Given the description of an element on the screen output the (x, y) to click on. 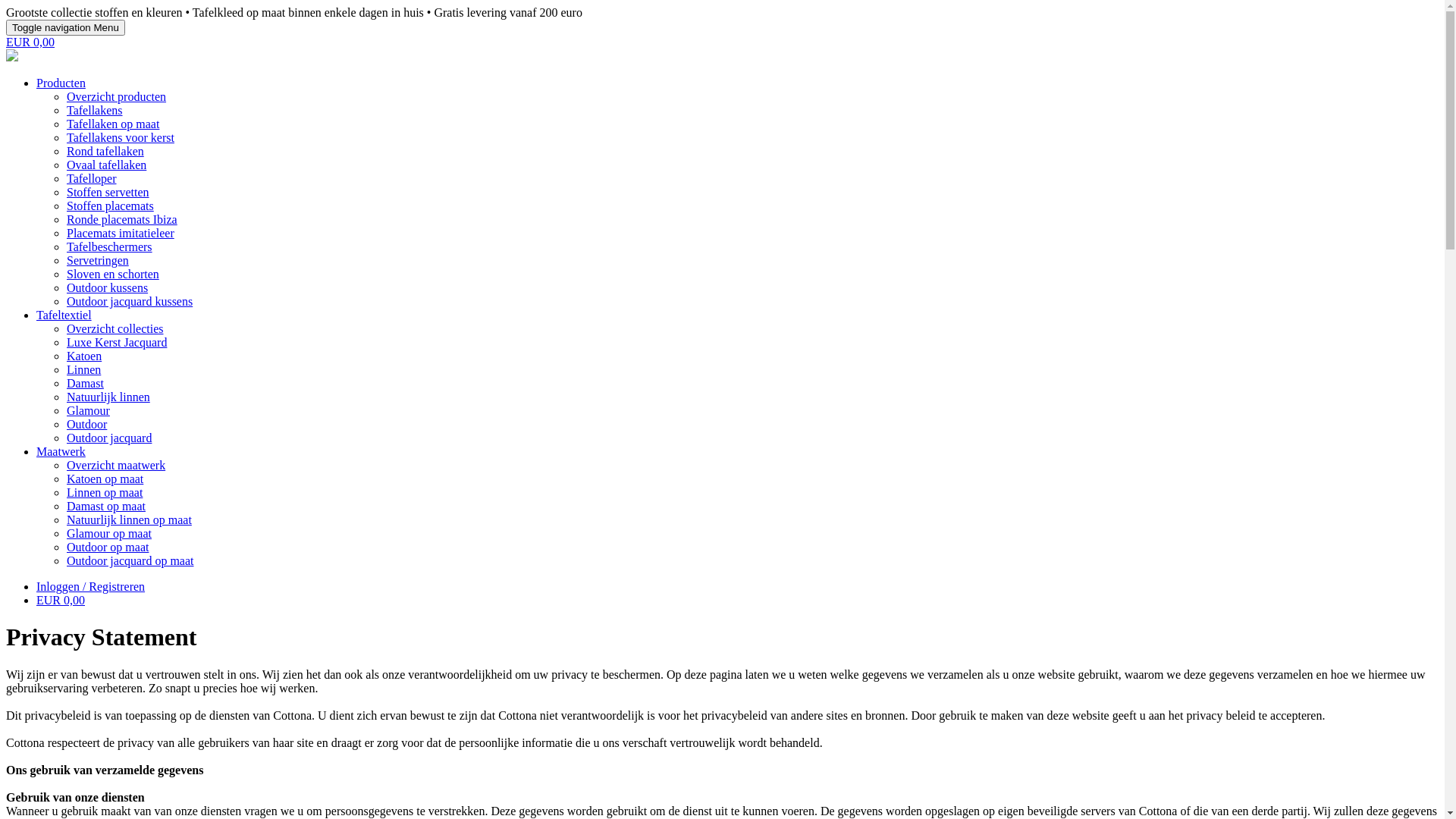
Stoffen placemats Element type: text (109, 205)
Outdoor kussens Element type: text (106, 287)
Overzicht producten Element type: text (116, 96)
Damast op maat Element type: text (105, 505)
Placemats imitatieleer Element type: text (120, 232)
Natuurlijk linnen Element type: text (108, 396)
Sloven en schorten Element type: text (112, 273)
EUR 0,00 Element type: text (60, 599)
Overzicht maatwerk Element type: text (115, 464)
Stoffen servetten Element type: text (107, 191)
Outdoor jacquard Element type: text (108, 437)
Tafellaken op maat Element type: text (112, 123)
Damast Element type: text (84, 382)
Linnen op maat Element type: text (104, 492)
Tafellakens voor kerst Element type: text (120, 137)
Luxe Kerst Jacquard Element type: text (116, 341)
Rond tafellaken Element type: text (105, 150)
Ovaal tafellaken Element type: text (106, 164)
Katoen Element type: text (83, 355)
Tafeltextiel Element type: text (63, 314)
Tafellakens Element type: text (94, 109)
Overzicht collecties Element type: text (114, 328)
Toggle navigation Menu Element type: text (65, 27)
Tafelbeschermers Element type: text (109, 246)
Outdoor Element type: text (86, 423)
Outdoor op maat Element type: text (107, 546)
Outdoor jacquard kussens Element type: text (129, 300)
Natuurlijk linnen op maat Element type: text (128, 519)
Ronde placemats Ibiza Element type: text (121, 219)
Servetringen Element type: text (97, 260)
Producten Element type: text (60, 82)
Maatwerk Element type: text (60, 451)
Katoen op maat Element type: text (104, 478)
Outdoor jacquard op maat Element type: text (130, 560)
Linnen Element type: text (83, 369)
EUR 0,00 Element type: text (30, 41)
Glamour op maat Element type: text (108, 533)
Inloggen / Registreren Element type: text (90, 586)
Glamour Element type: text (87, 410)
Tafelloper Element type: text (91, 178)
